Given the description of an element on the screen output the (x, y) to click on. 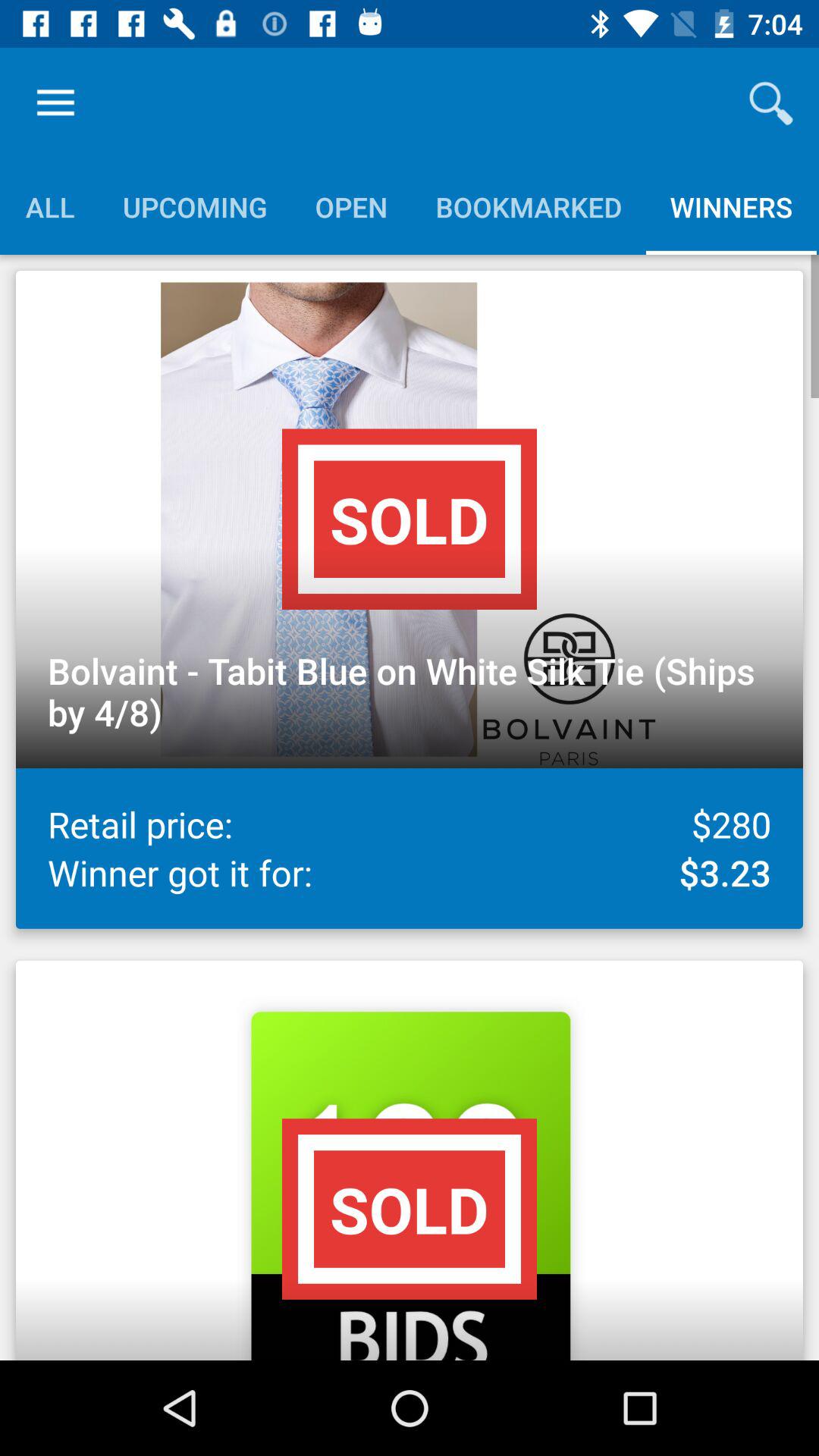
select the icon above all (55, 103)
